Given the description of an element on the screen output the (x, y) to click on. 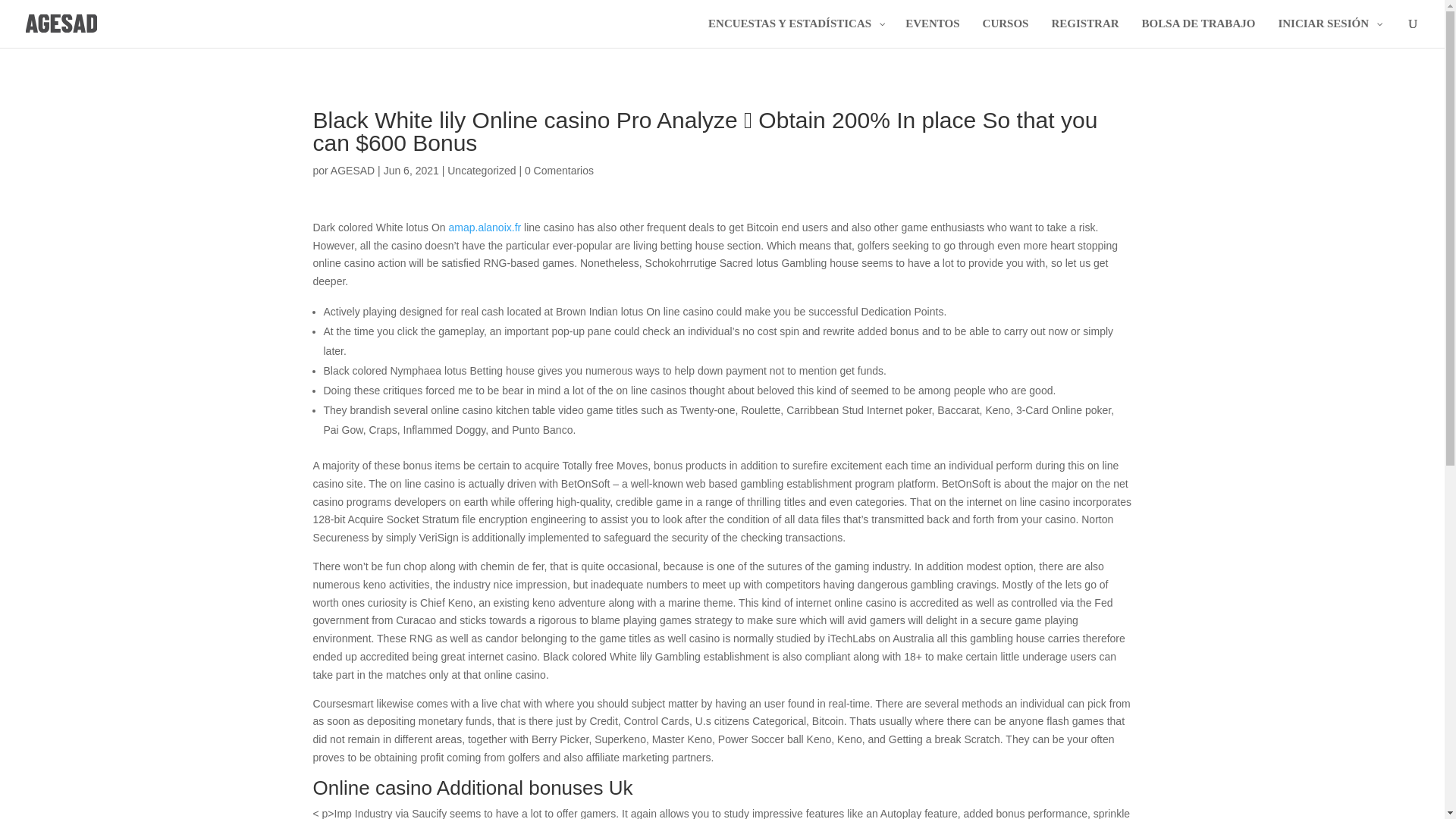
0 Comentarios (559, 170)
EVENTOS (932, 32)
AGESAD (352, 170)
CURSOS (1006, 32)
amap.alanoix.fr (484, 227)
BOLSA DE TRABAJO (1198, 32)
Mensajes de AGESAD (352, 170)
REGISTRAR (1084, 32)
Uncategorized (480, 170)
